Given the description of an element on the screen output the (x, y) to click on. 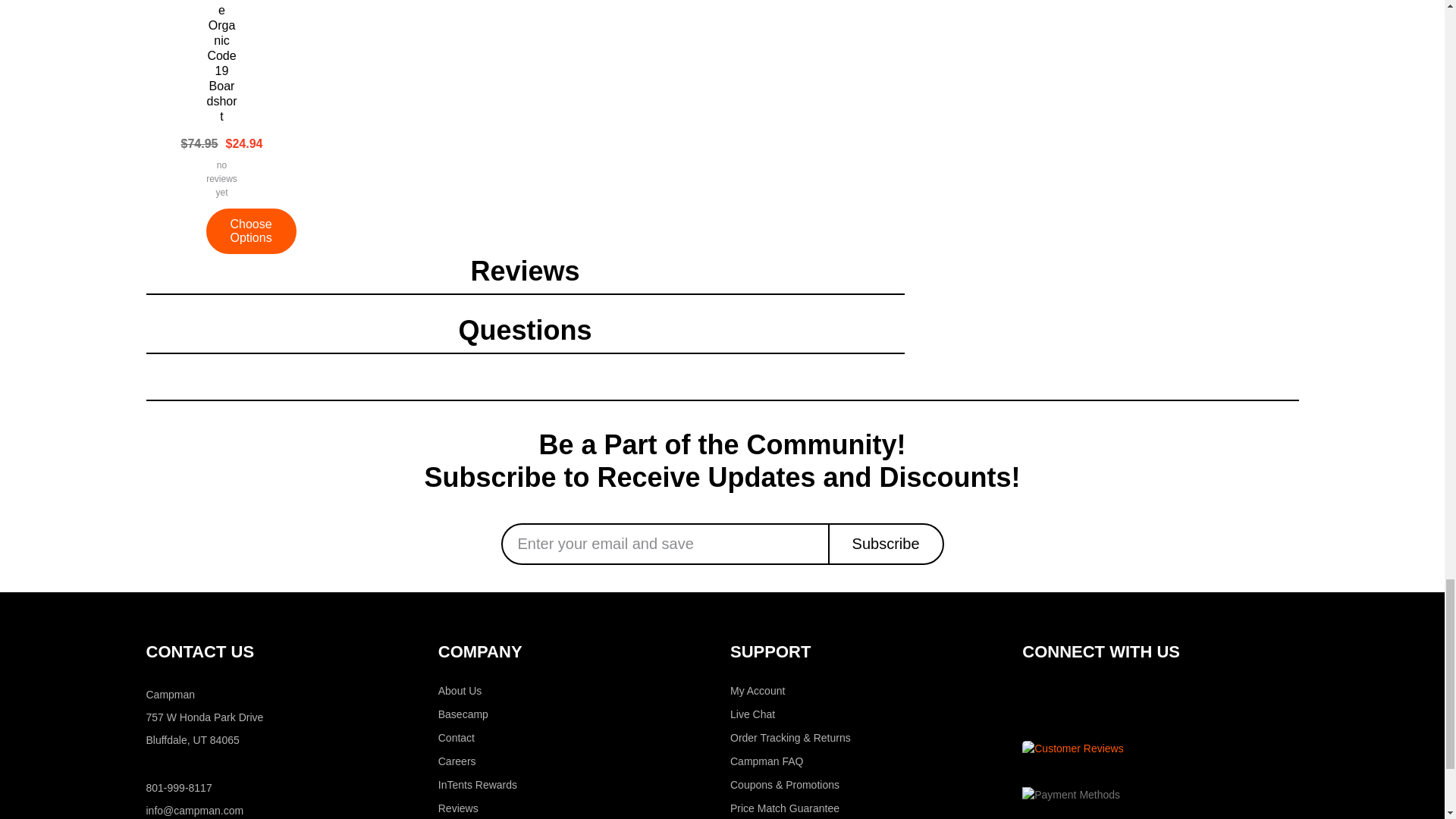
Subscribe (885, 544)
